Given the description of an element on the screen output the (x, y) to click on. 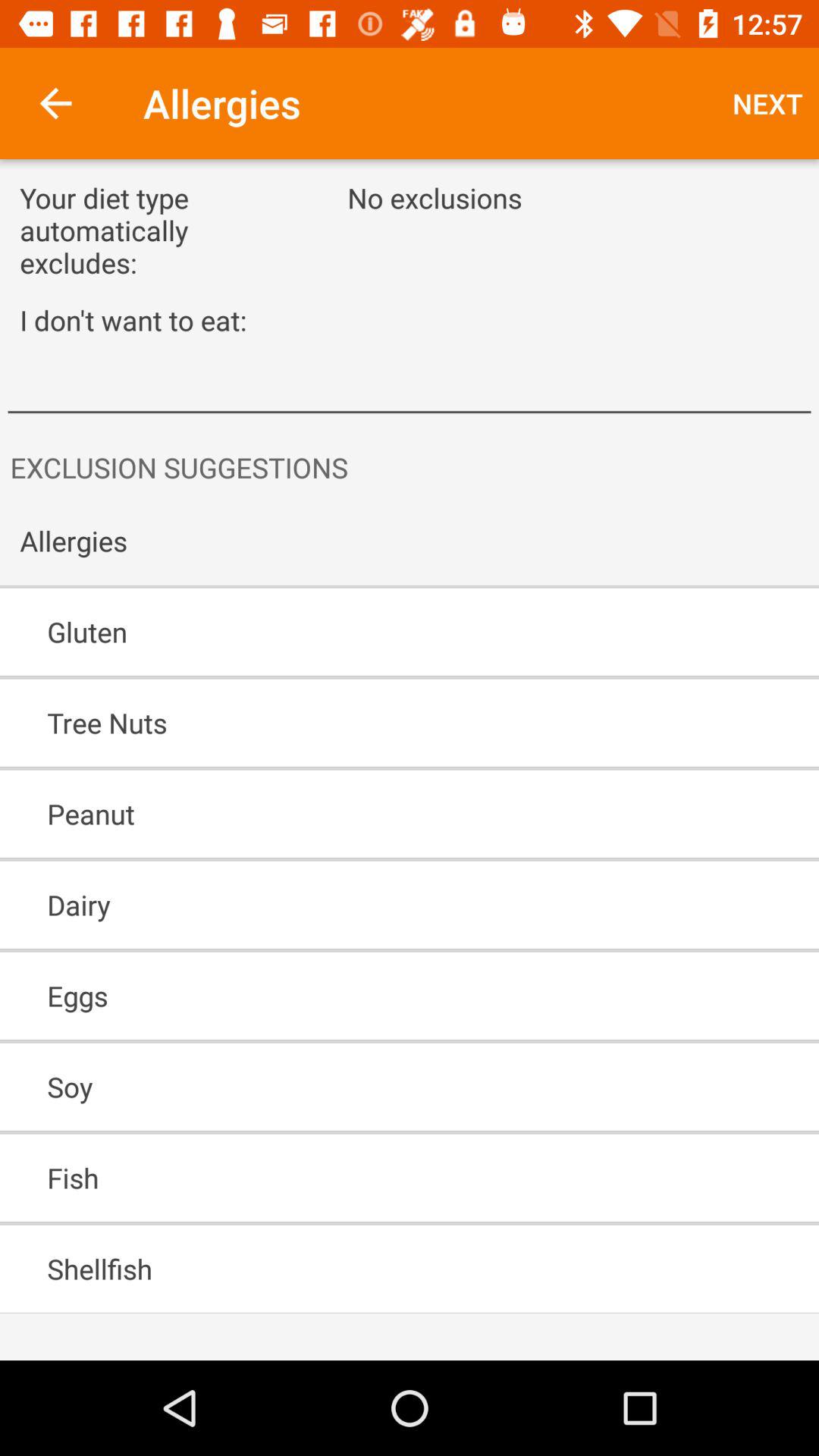
launch the item above the     tree nuts (365, 631)
